Given the description of an element on the screen output the (x, y) to click on. 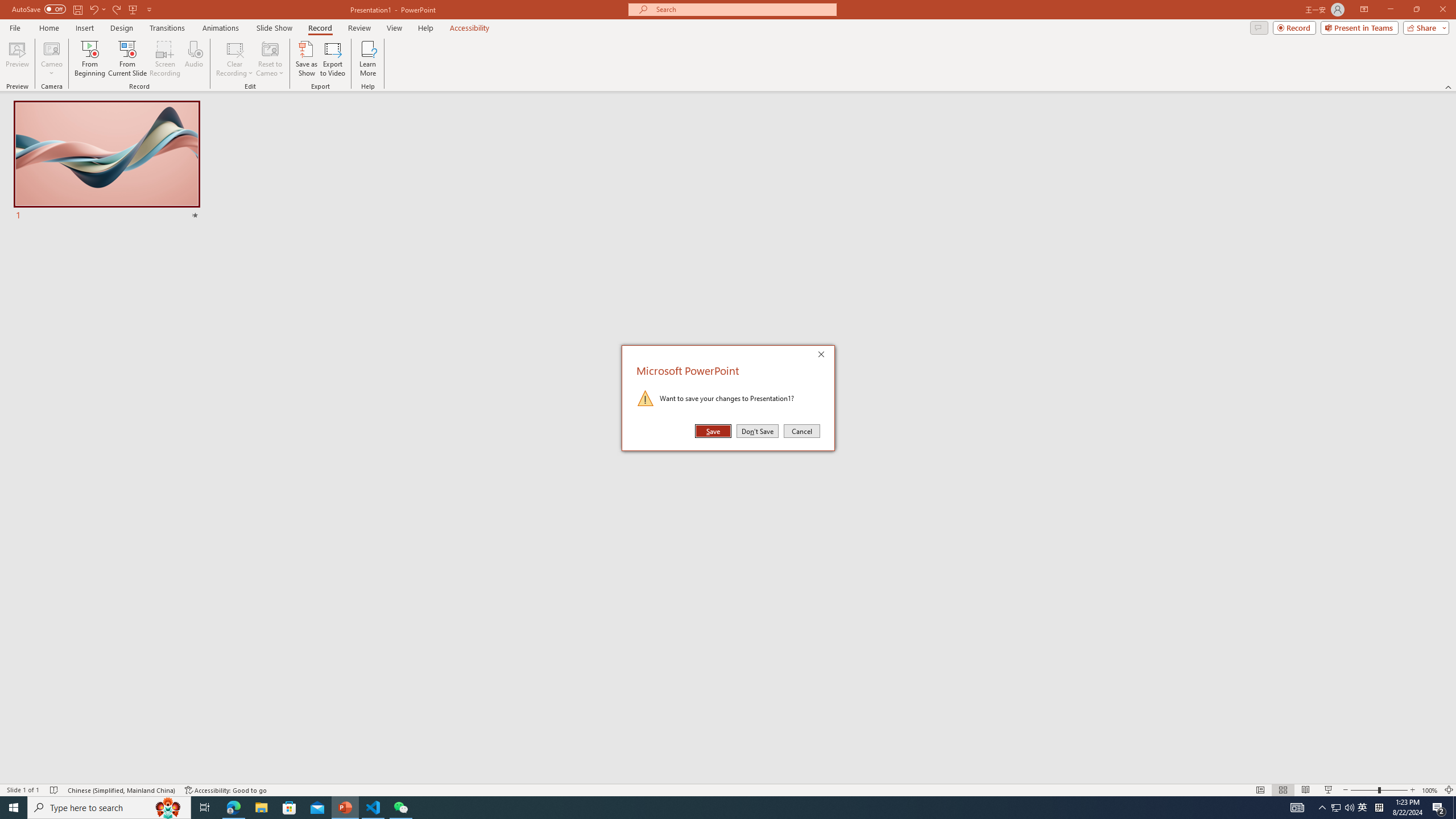
From Current Slide... (127, 58)
Warning Icon (645, 398)
Accessibility Checker Accessibility: Good to go (226, 790)
Cancel (801, 431)
Screen Recording (165, 58)
